Given the description of an element on the screen output the (x, y) to click on. 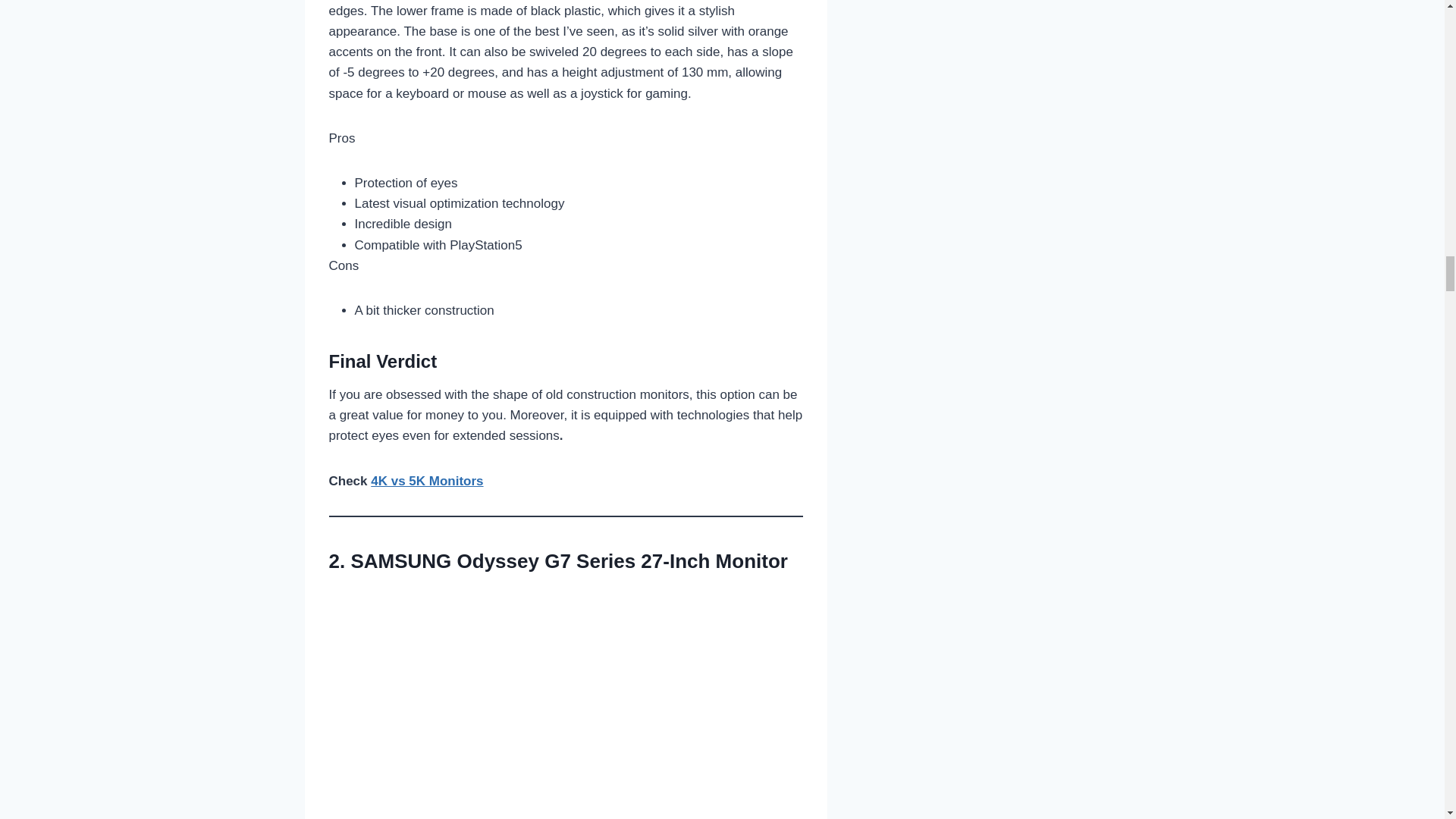
4K vs 5K Monitors (427, 481)
SAMSUNG Odyssey G7 Series 27-Inch Monitor (568, 560)
